Given the description of an element on the screen output the (x, y) to click on. 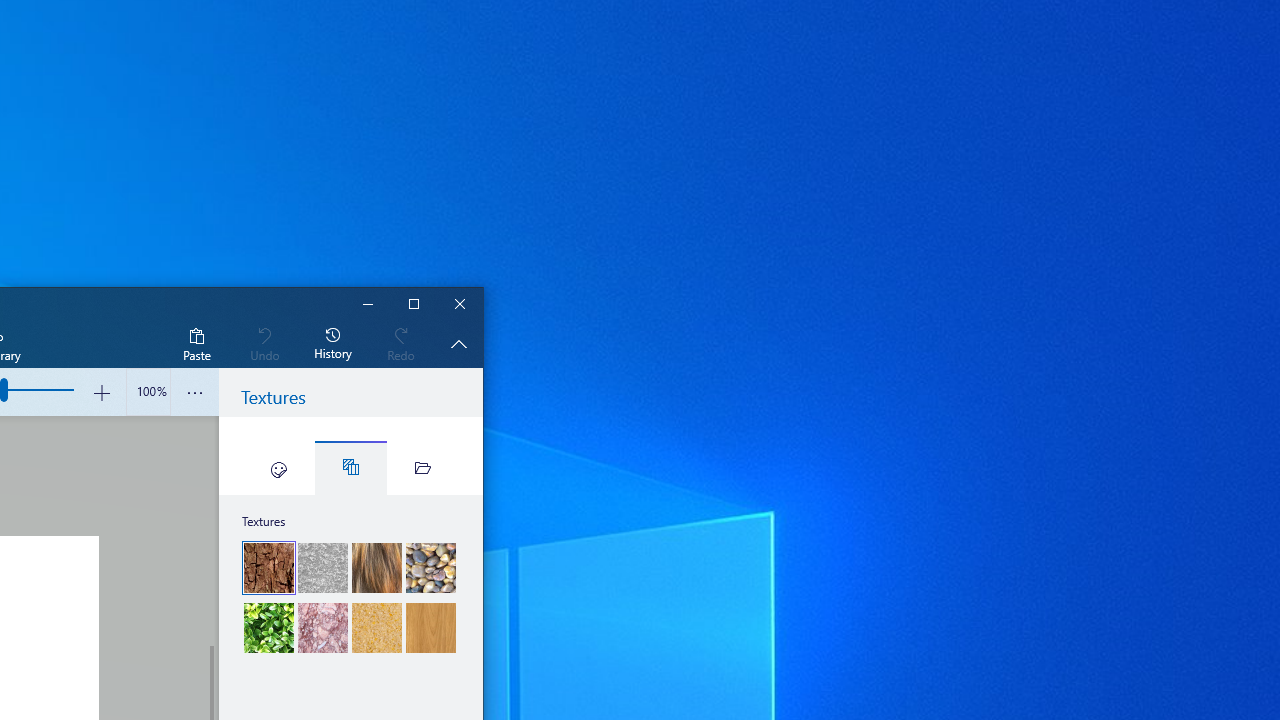
Zoom slider (148, 391)
Fur (376, 567)
Zoom in (101, 391)
Custom stickers (422, 467)
Textures (350, 467)
Vertical Large Decrease (210, 530)
